Given the description of an element on the screen output the (x, y) to click on. 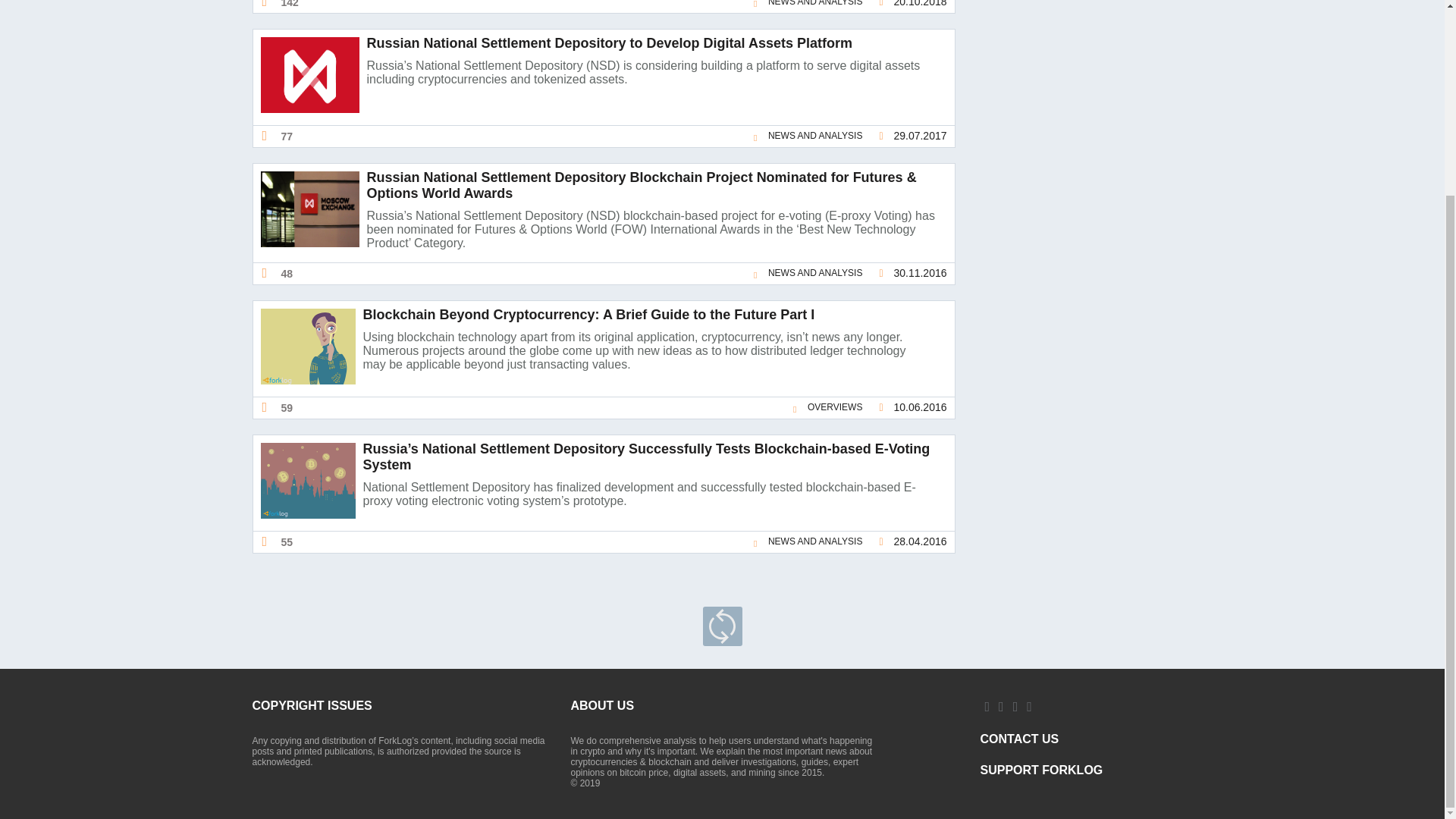
NEWS AND ANALYSIS (806, 135)
NEWS AND ANALYSIS (806, 272)
NEWS AND ANALYSIS (806, 5)
